Given the description of an element on the screen output the (x, y) to click on. 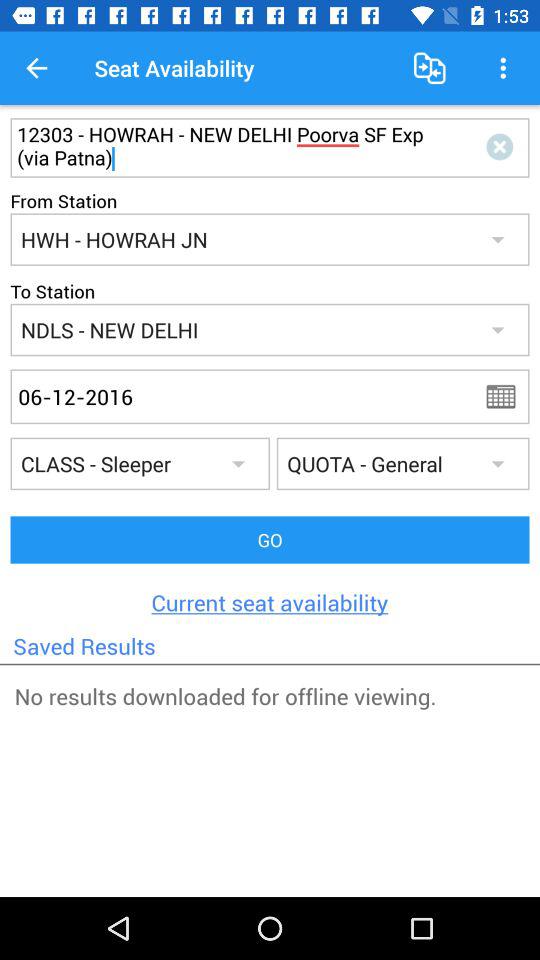
turn off the item next to the 06-12-2016 item (507, 396)
